Given the description of an element on the screen output the (x, y) to click on. 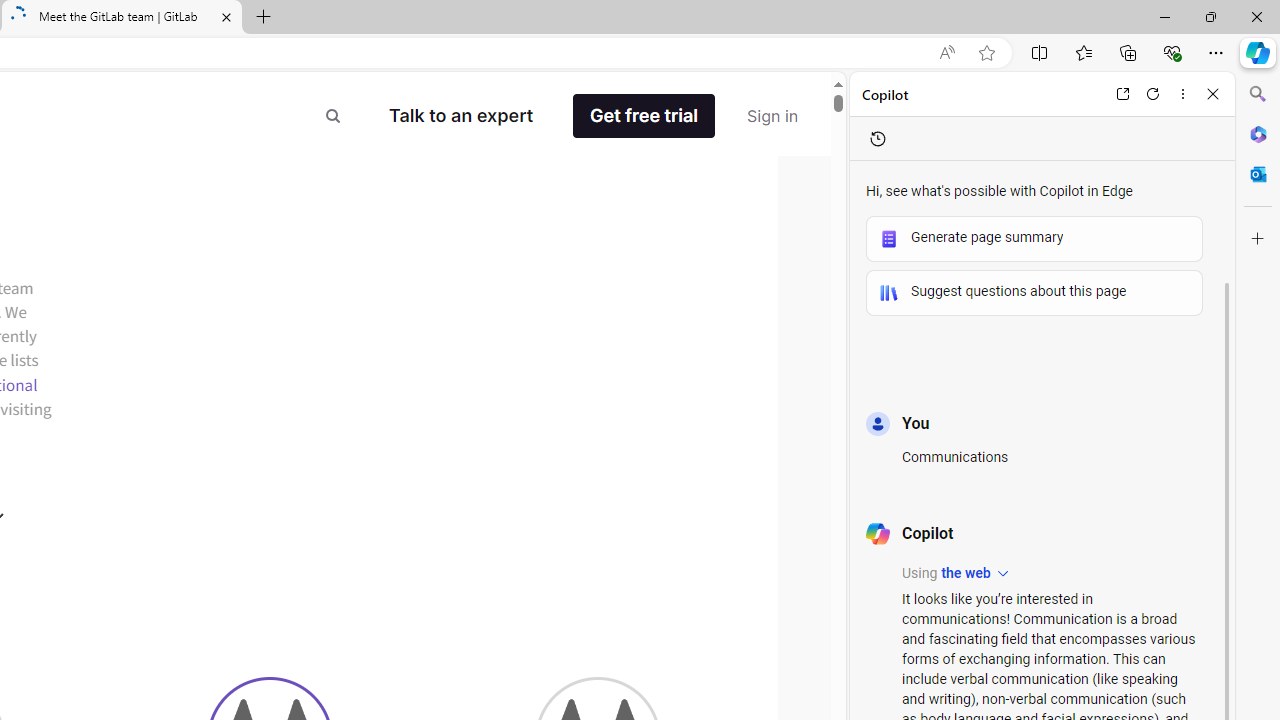
Get free trial (644, 116)
Sign in (772, 115)
Talk to an expert (461, 115)
